Given the description of an element on the screen output the (x, y) to click on. 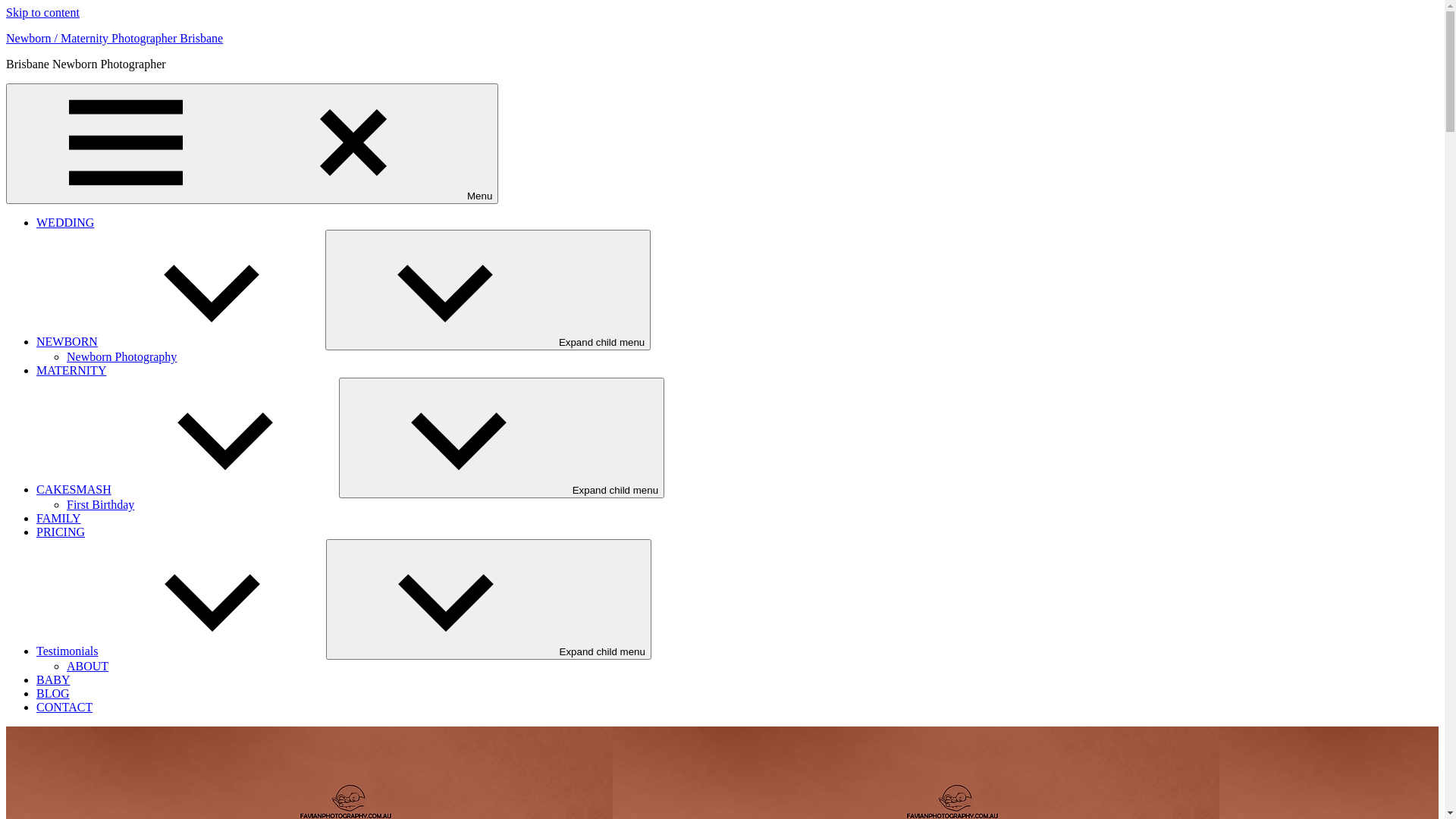
NEWBORN Element type: text (180, 341)
Expand child menu Element type: text (501, 437)
PRICING Element type: text (60, 531)
Expand child menu Element type: text (488, 599)
Skip to content Element type: text (42, 12)
First Birthday Element type: text (100, 504)
BABY Element type: text (52, 679)
ABOUT Element type: text (87, 665)
CAKESMASH Element type: text (187, 489)
Newborn / Maternity Photographer Brisbane Element type: text (114, 37)
Newborn Photography Element type: text (121, 356)
Testimonials Element type: text (181, 650)
FAMILY Element type: text (58, 517)
MATERNITY Element type: text (71, 370)
WEDDING Element type: text (65, 222)
BLOG Element type: text (52, 693)
CONTACT Element type: text (64, 706)
Menu Element type: text (252, 143)
Expand child menu Element type: text (487, 289)
